Given the description of an element on the screen output the (x, y) to click on. 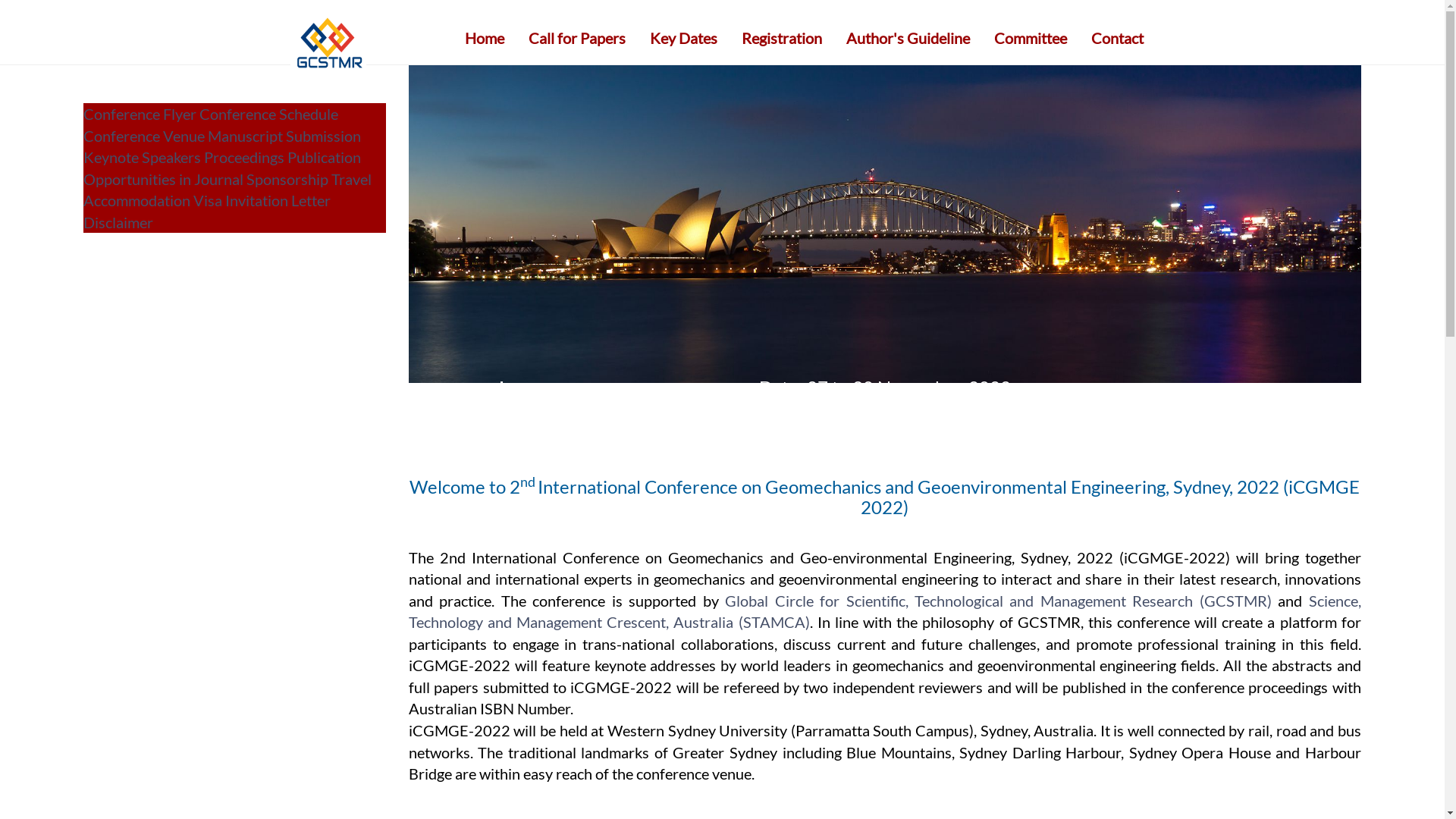
Home Element type: text (484, 37)
Contact Element type: text (1116, 37)
Registration Element type: text (780, 37)
Committee Element type: text (1030, 37)
Travel Element type: text (351, 178)
Visa Invitation Letter Element type: text (261, 200)
Manuscript Submission Element type: text (283, 135)
Proceedings Element type: text (243, 156)
Key Dates Element type: text (683, 37)
Accommodation Element type: text (138, 200)
Sponsorship Element type: text (287, 178)
Publication Opportunities in Journal Element type: text (221, 167)
Author's Guideline Element type: text (907, 37)
Conference Flyer Element type: text (139, 113)
Keynote Speakers Element type: text (141, 156)
Disclaimer Element type: text (118, 222)
Conference Schedule Element type: text (268, 113)
Call for Papers Element type: text (577, 37)
Conference Venue Element type: text (143, 135)
